Given the description of an element on the screen output the (x, y) to click on. 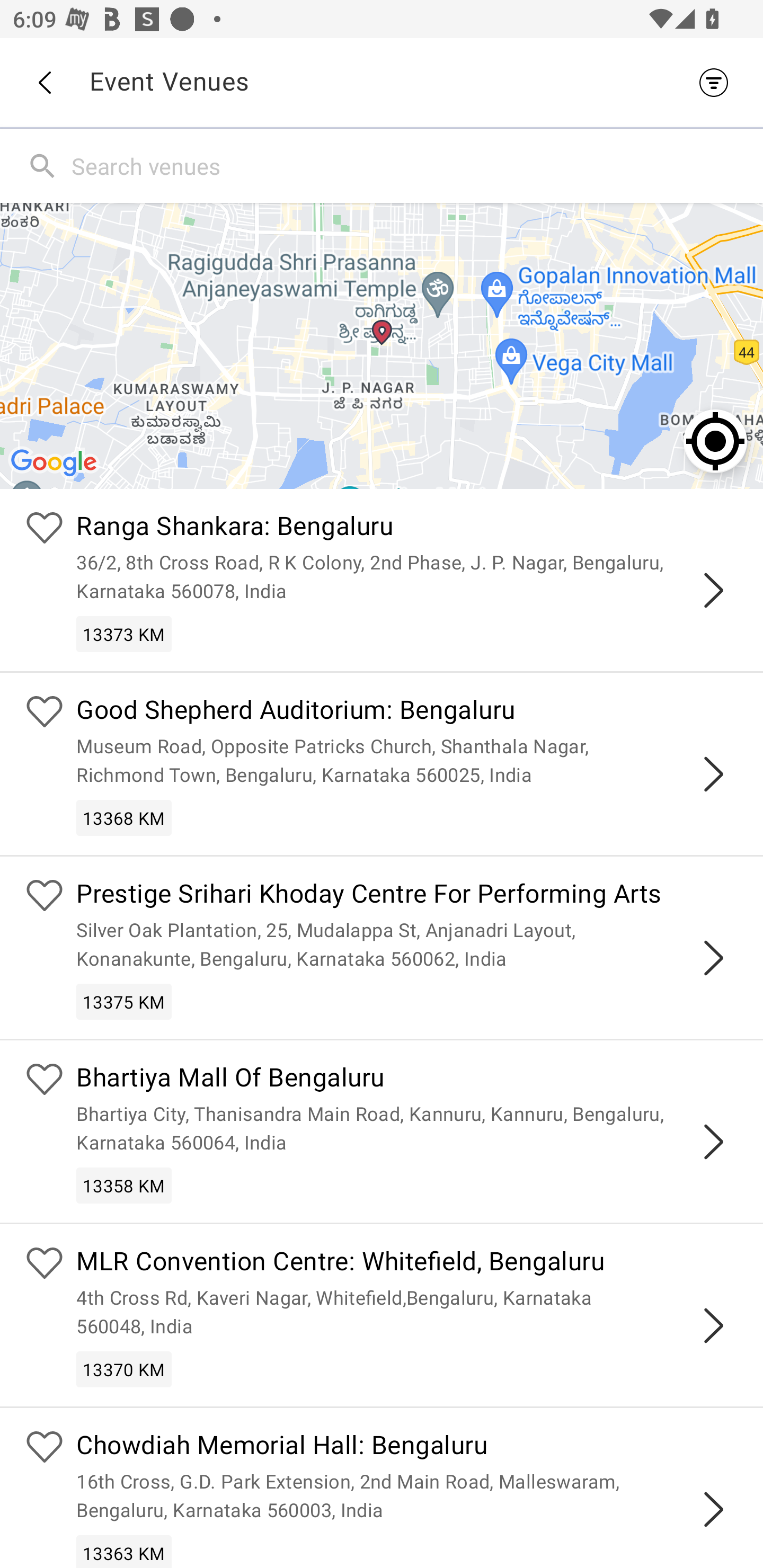
Back Event Venues Filter (381, 82)
Filter (718, 82)
Back (44, 82)
Search venues (413, 165)
Google Map Ranga Shankara: Bengaluru (381, 345)
Ranga Shankara: Bengaluru (406, 528)
 (713, 590)
13373 KM (123, 634)
Good Shepherd Auditorium: Bengaluru (406, 711)
 (713, 773)
13368 KM (123, 817)
Prestige Srihari Khoday Centre For Performing Arts (406, 894)
 (713, 957)
13375 KM (123, 1001)
Bhartiya Mall Of Bengaluru (406, 1079)
 (713, 1141)
13358 KM (123, 1186)
MLR Convention Centre: Whitefield, Bengaluru (406, 1263)
 (713, 1325)
13370 KM (123, 1369)
Chowdiah Memorial Hall: Bengaluru (406, 1446)
 (713, 1508)
13363 KM (123, 1551)
